Given the description of an element on the screen output the (x, y) to click on. 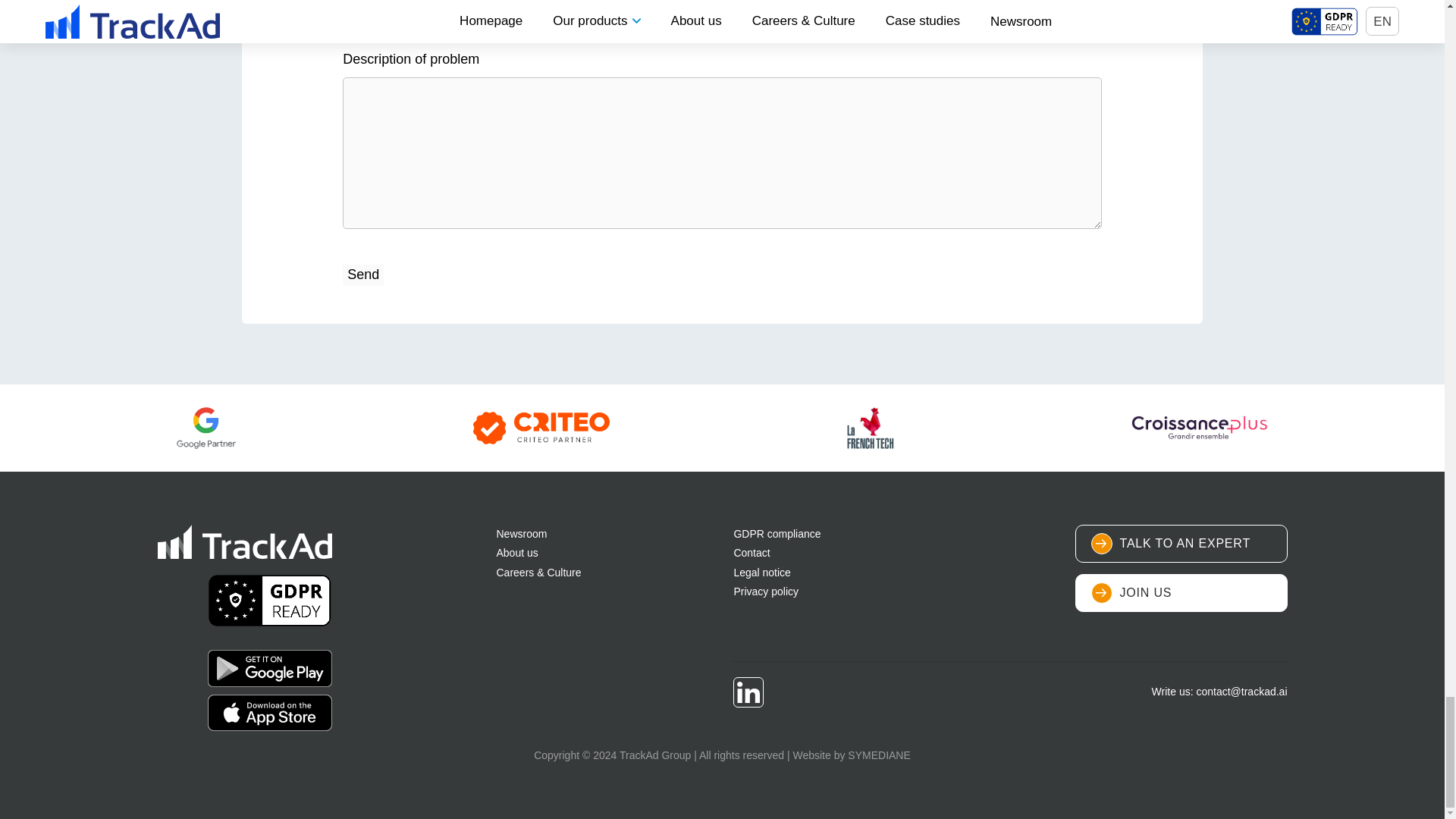
Send (363, 274)
Back to Home (244, 540)
About us (516, 552)
TALK TO AN EXPERT (1181, 543)
JOIN US (1181, 592)
Back to Home (269, 711)
Legal notice (761, 572)
Privacy policy (765, 591)
Newsroom (521, 533)
Website by SYMEDIANE (851, 755)
